Given the description of an element on the screen output the (x, y) to click on. 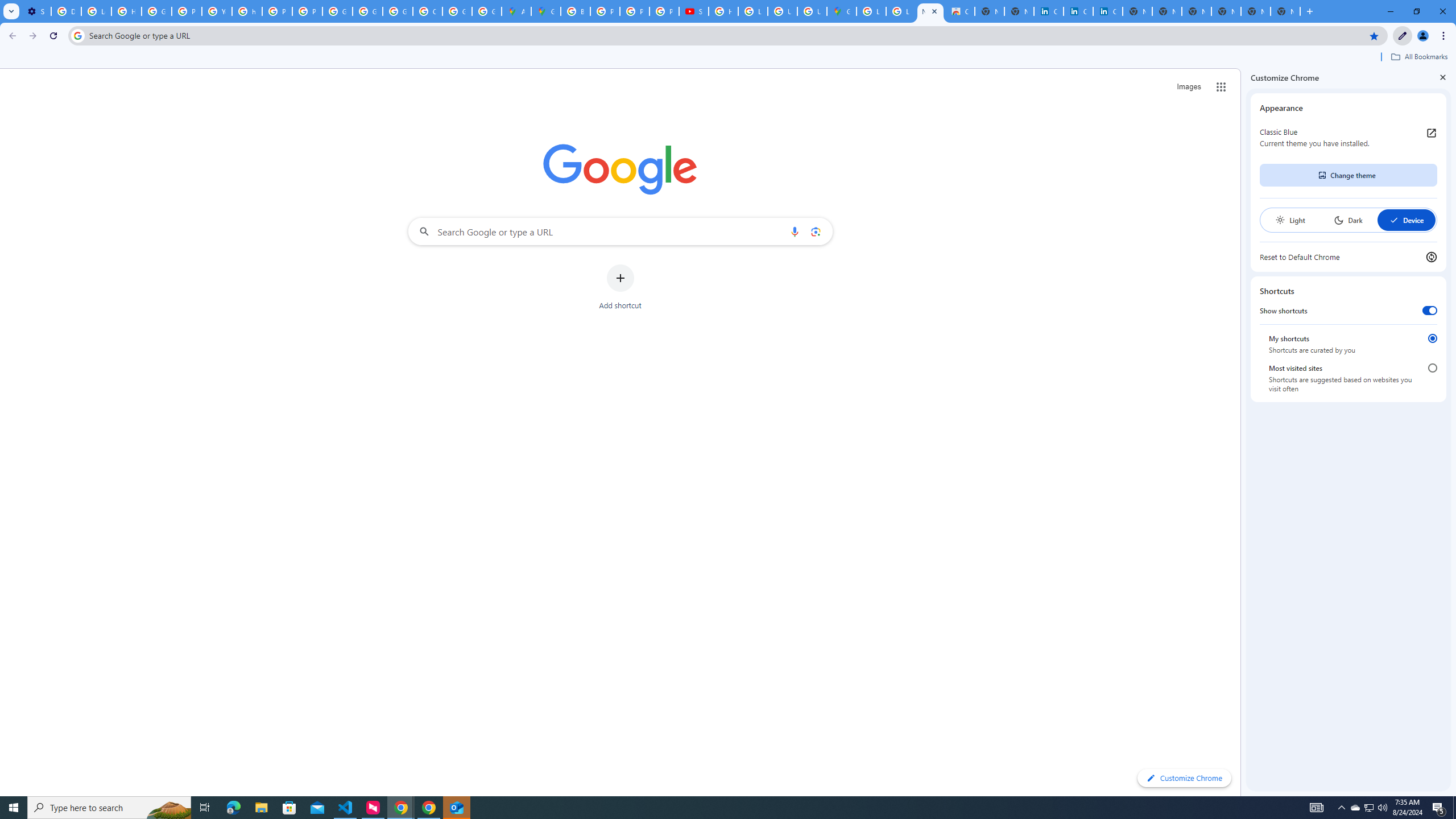
Blogger Policies and Guidelines - Transparency Center (575, 11)
YouTube (216, 11)
New Tab (1226, 11)
Subscriptions - YouTube (693, 11)
Chrome Web Store (959, 11)
How Chrome protects your passwords - Google Chrome Help (723, 11)
